Given the description of an element on the screen output the (x, y) to click on. 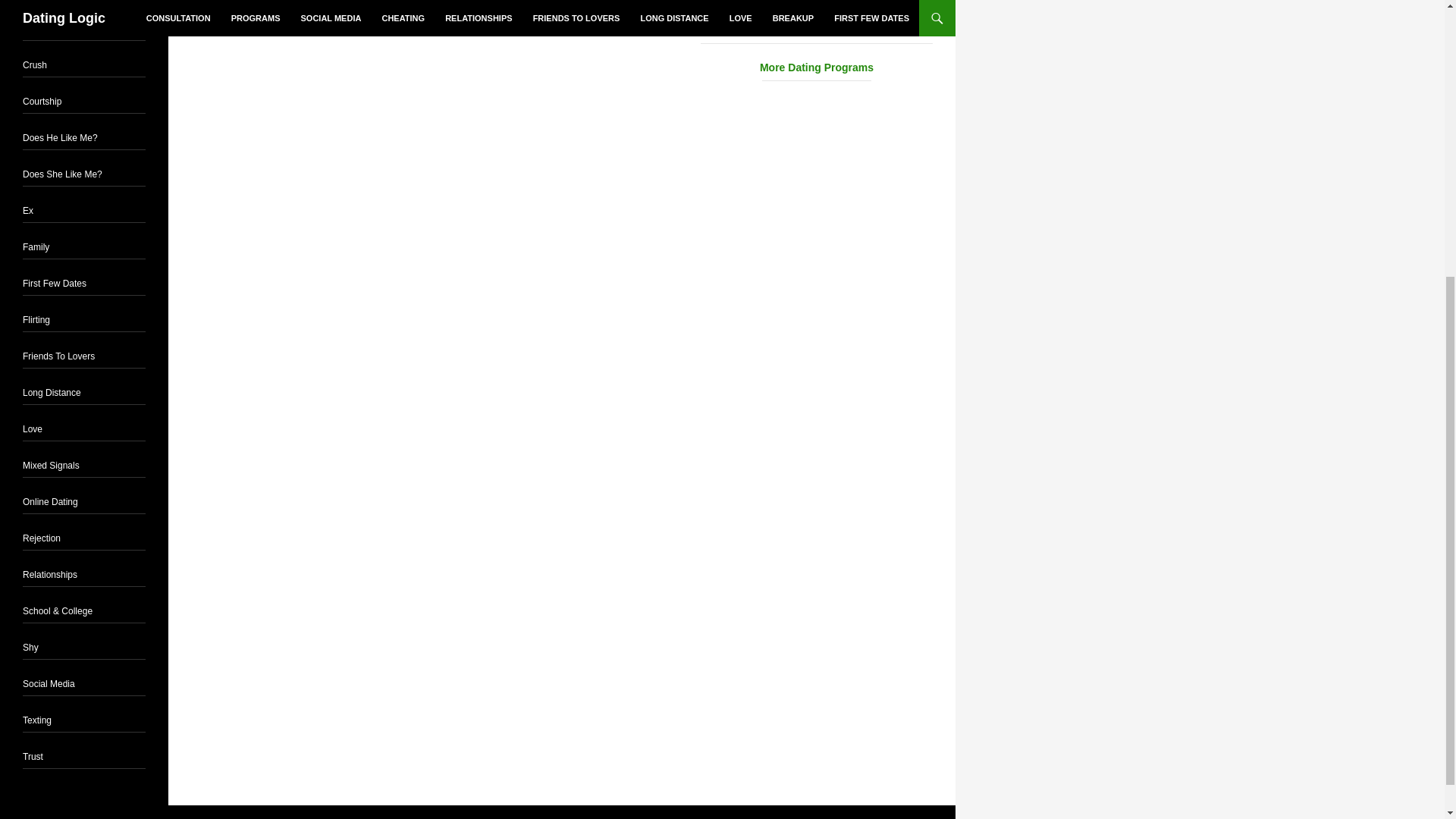
Cheating (41, 28)
More Dating Programs (816, 68)
Courtship (42, 101)
Ex (28, 210)
The Obsession Method (755, 30)
Family (36, 246)
Does She Like Me? (62, 173)
First Few Dates (54, 283)
Does He Like Me? (60, 137)
Crush (34, 64)
